Given the description of an element on the screen output the (x, y) to click on. 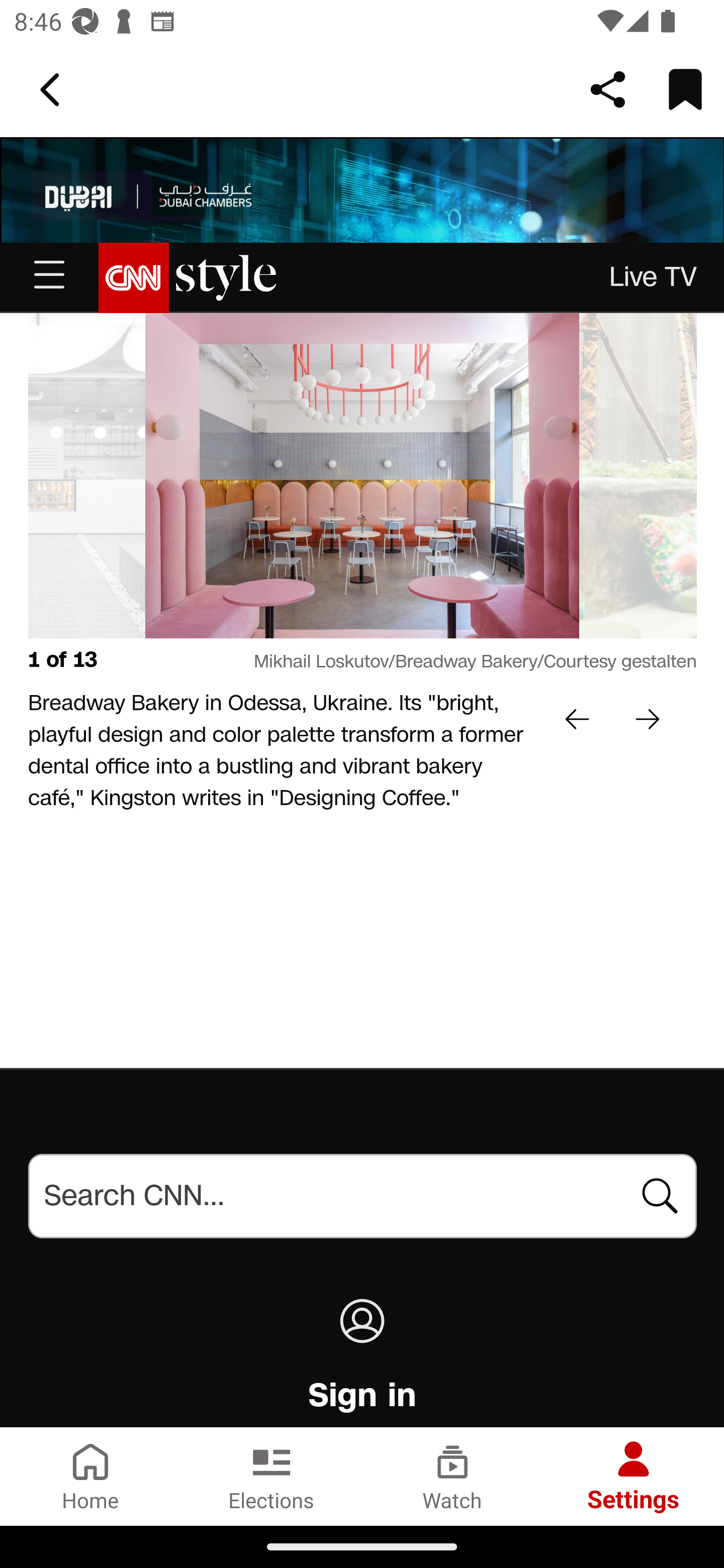
Back Button (52, 89)
Share (607, 89)
Bookmark Selected (685, 89)
CNN logo (134, 279)
style (226, 279)
Open Menu Icon (49, 278)
Live TV (653, 278)
view previous image (196, 476)
view next image (530, 476)
view previous image (577, 718)
view next image (648, 718)
Submit (660, 1196)
User Account Log In Button User Avatar (361, 1321)
User Account Log In Button Sign in (361, 1392)
Home (90, 1475)
Elections (271, 1475)
Watch (452, 1475)
